Given the description of an element on the screen output the (x, y) to click on. 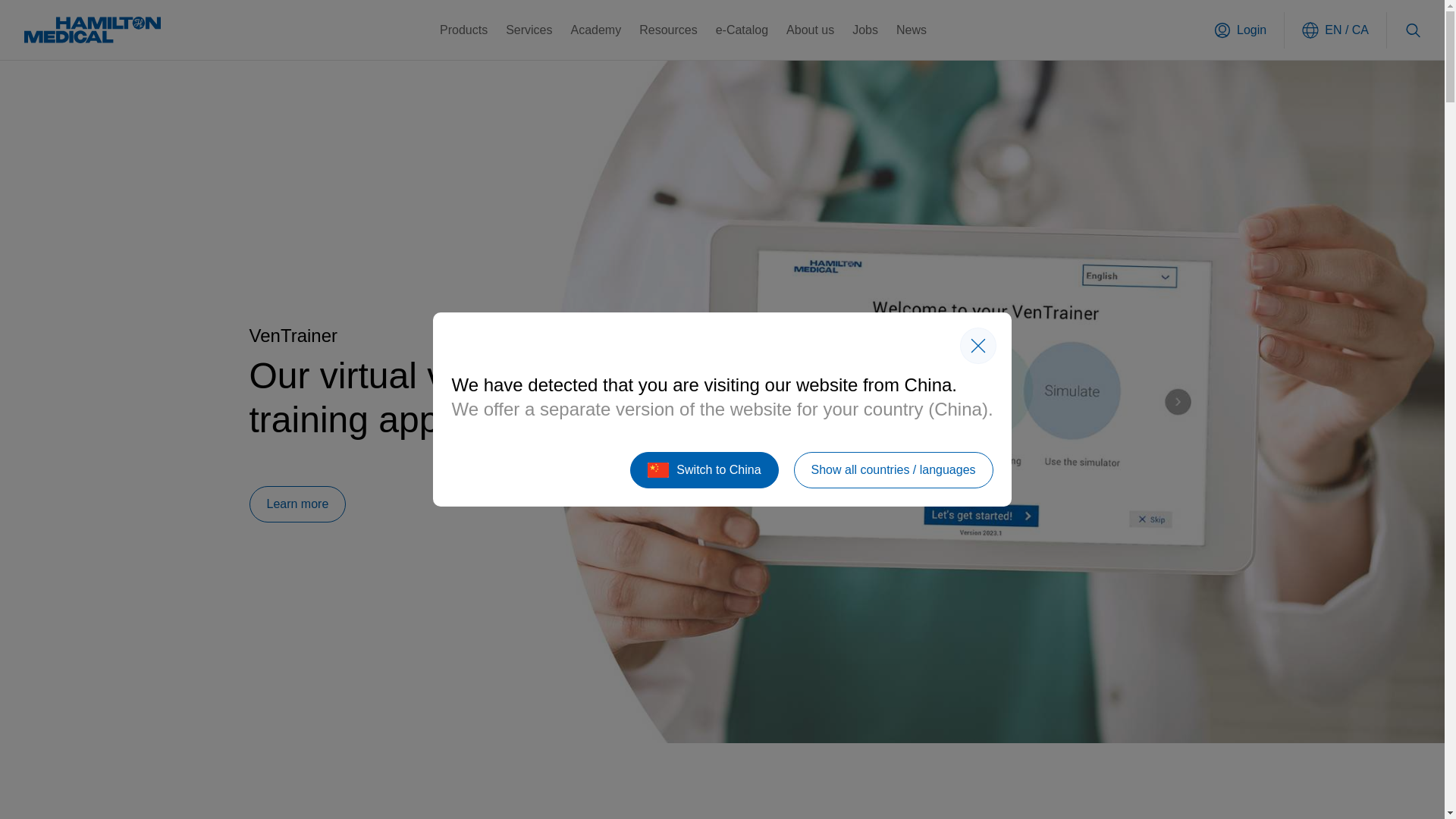
Academy (595, 30)
About us (810, 30)
Login (1240, 30)
Learn more (297, 504)
Products (463, 30)
News (911, 30)
Resources (668, 30)
Jobs (864, 30)
Services (528, 30)
